Given the description of an element on the screen output the (x, y) to click on. 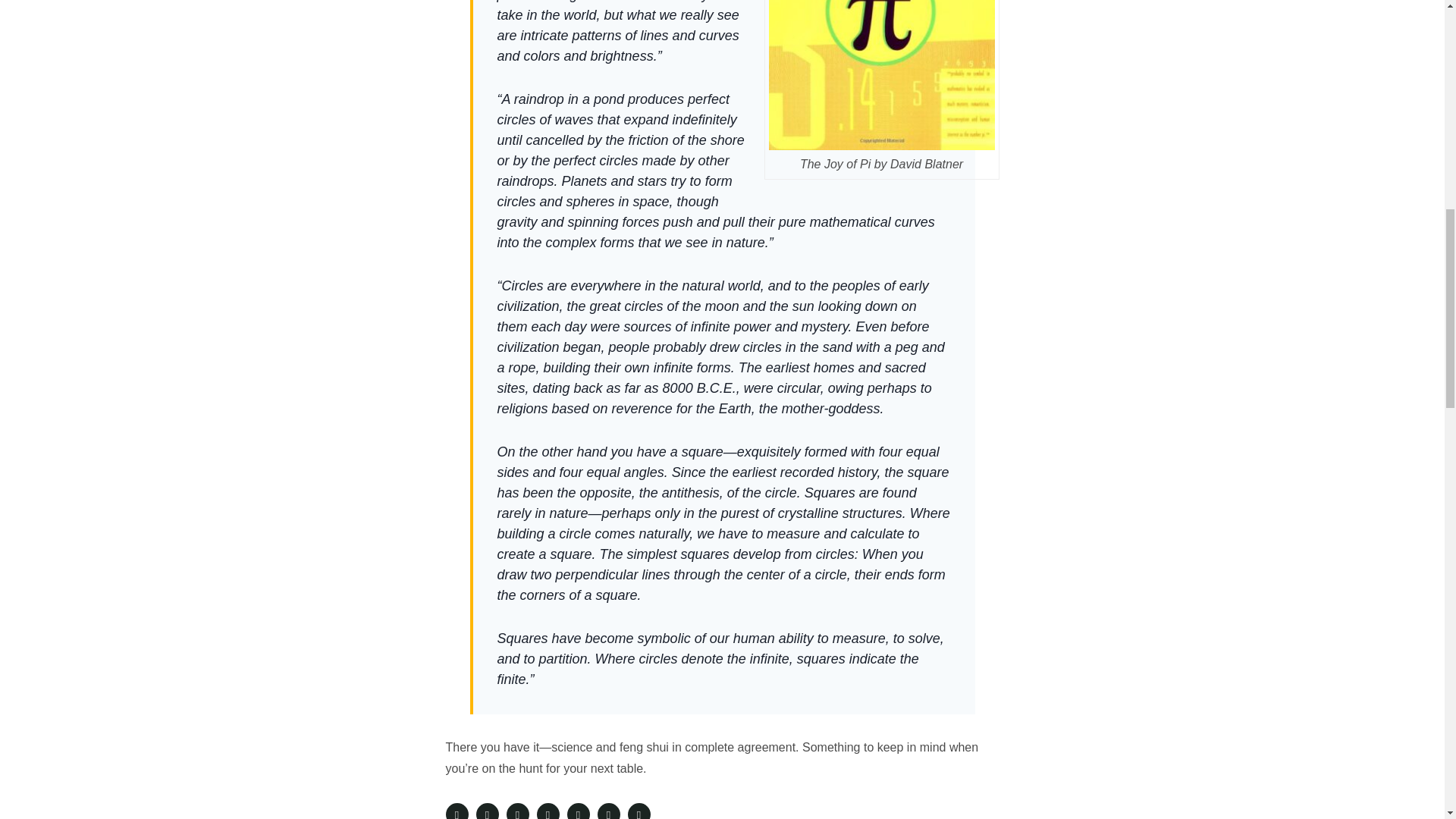
Share on Twitter (487, 811)
Share on Reddit (578, 811)
Share on LinkedIn (517, 811)
Share on Facebook (456, 811)
Share on Tumblr (608, 811)
Share on Pinterest (548, 811)
